Given the description of an element on the screen output the (x, y) to click on. 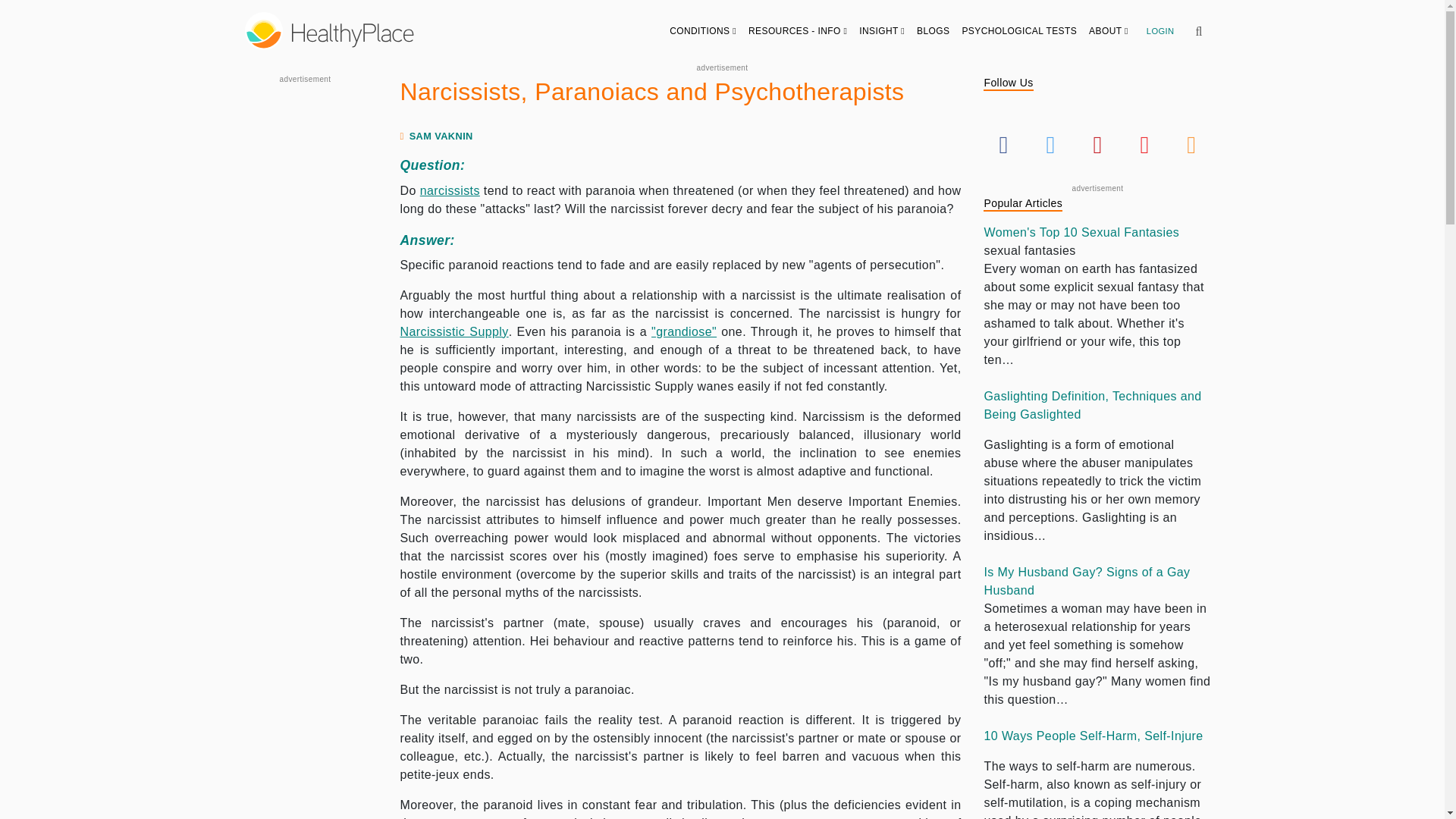
Narcissism and Grandiose Fantasies (683, 331)
INSIGHT (882, 31)
RESOURCES - INFO (797, 31)
What is Narcissistic Supply? (454, 331)
CONDITIONS (702, 31)
Narcissistic Personality Disorder Symptoms (450, 190)
